Given the description of an element on the screen output the (x, y) to click on. 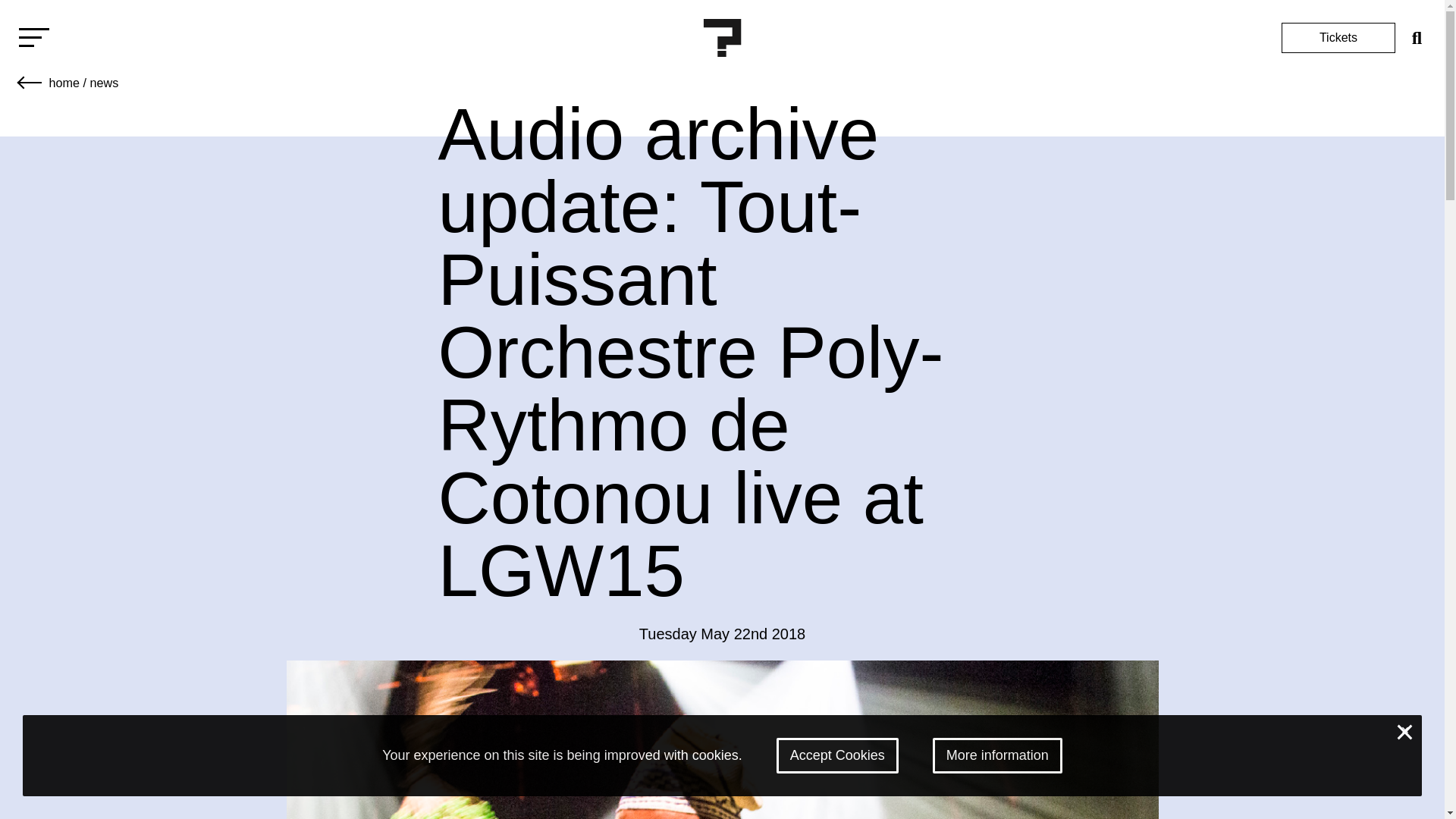
Tickets (1337, 37)
home (64, 82)
news (102, 82)
